Given the description of an element on the screen output the (x, y) to click on. 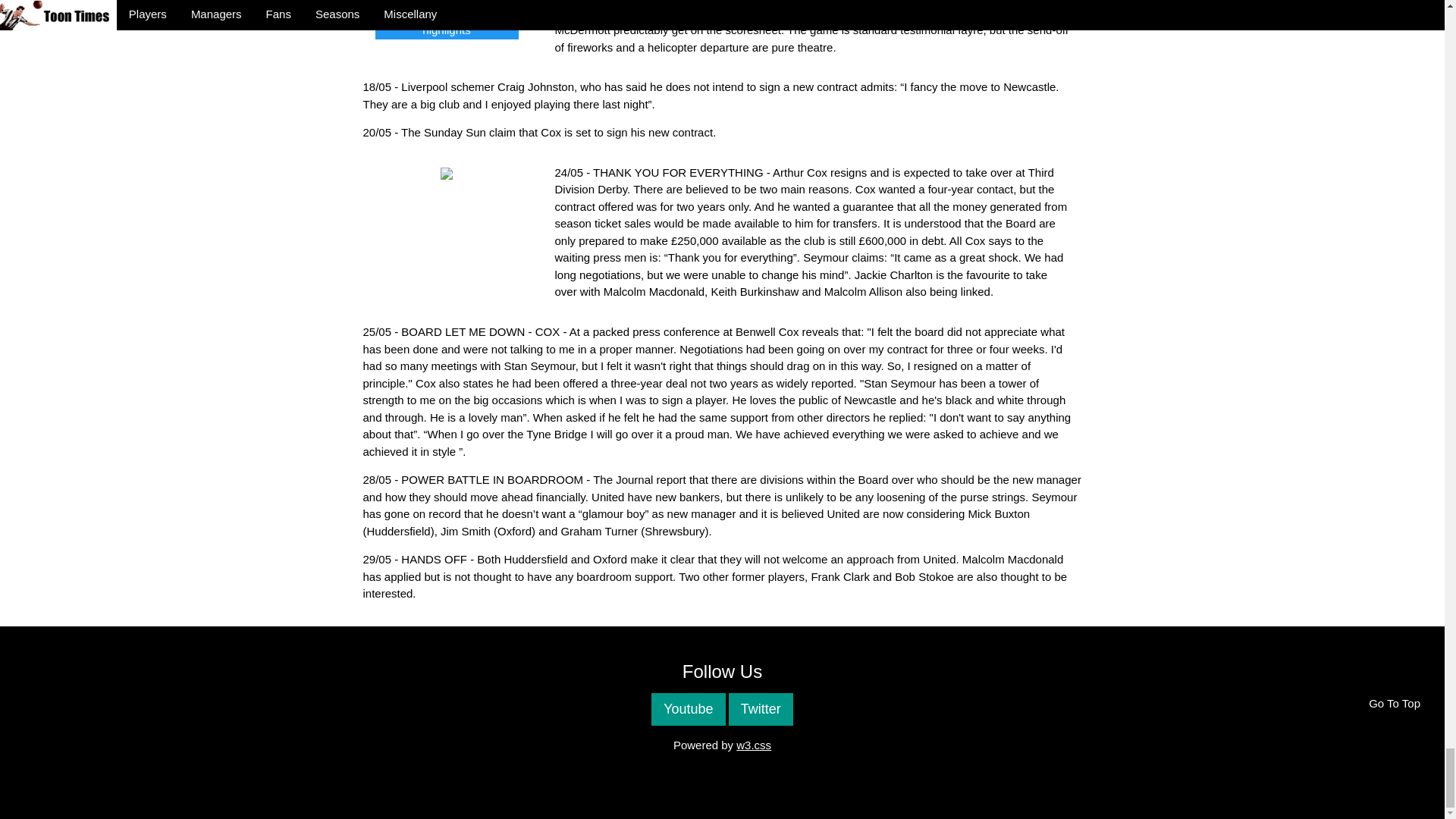
Youtube (687, 708)
w3.css (753, 744)
Twitter (761, 708)
Twitter (761, 708)
Youtube (687, 708)
Go To Top (1394, 704)
